Given the description of an element on the screen output the (x, y) to click on. 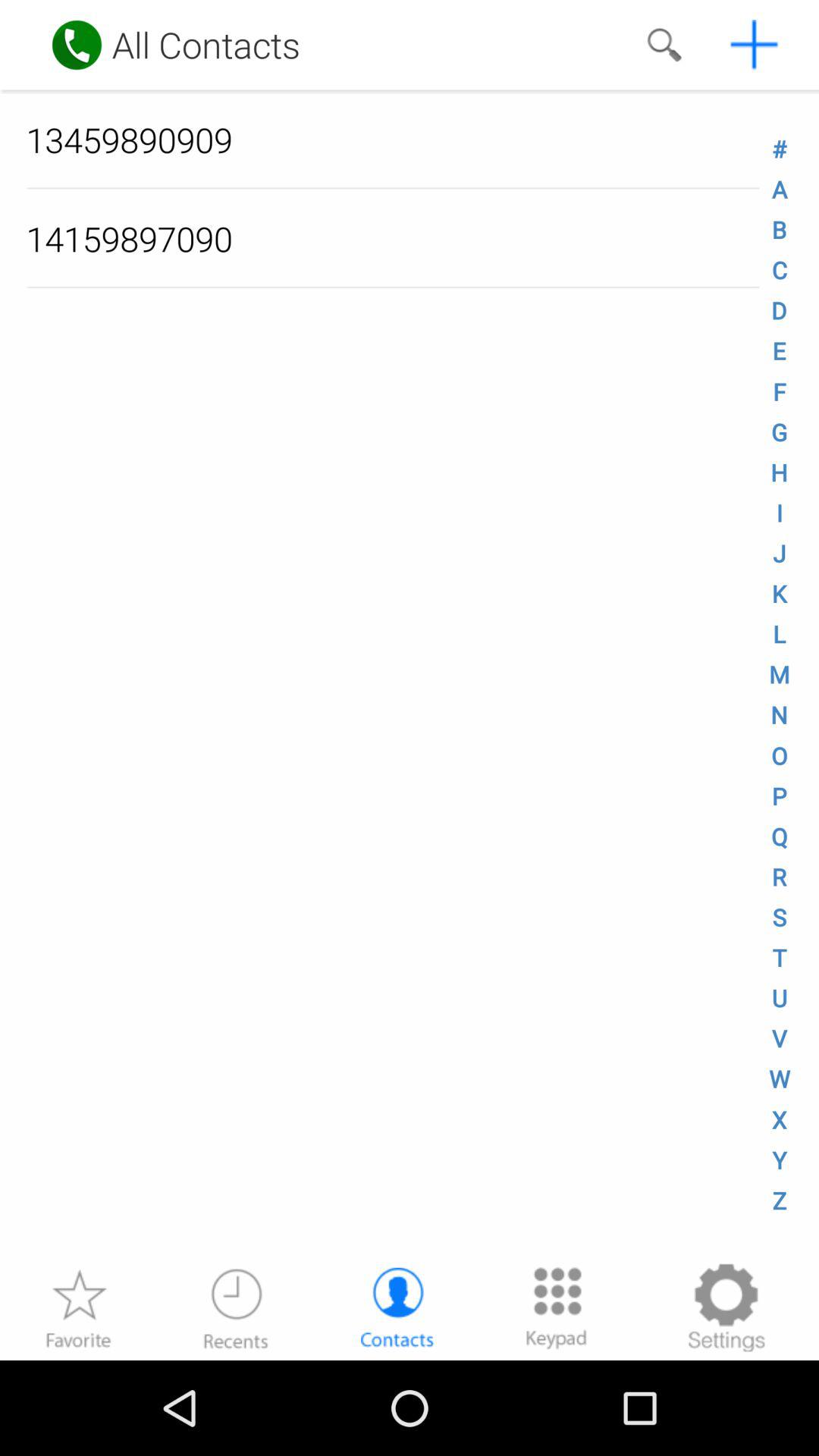
keypad menu (556, 1307)
